Given the description of an element on the screen output the (x, y) to click on. 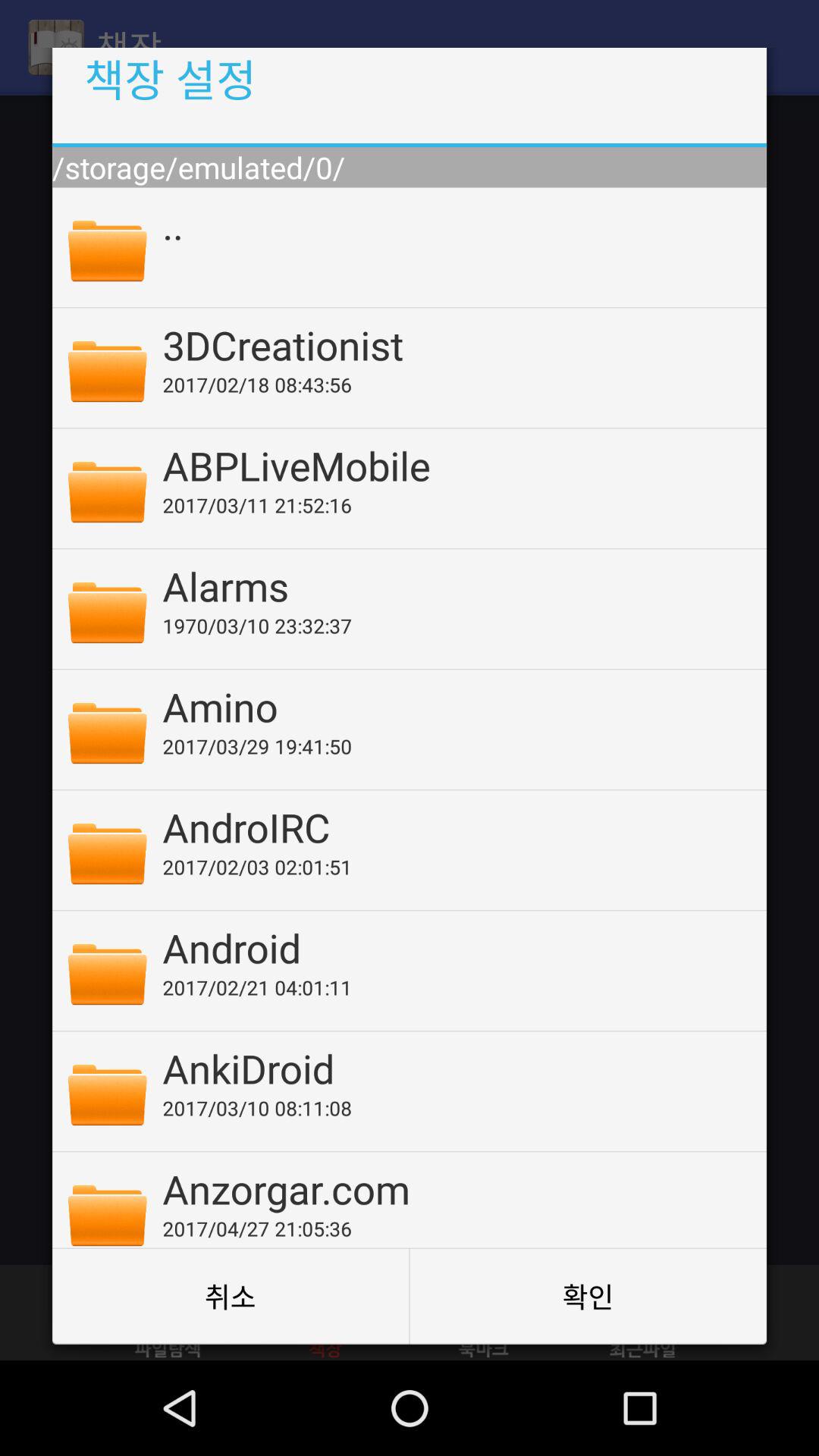
scroll until ankidroid (454, 1067)
